Given the description of an element on the screen output the (x, y) to click on. 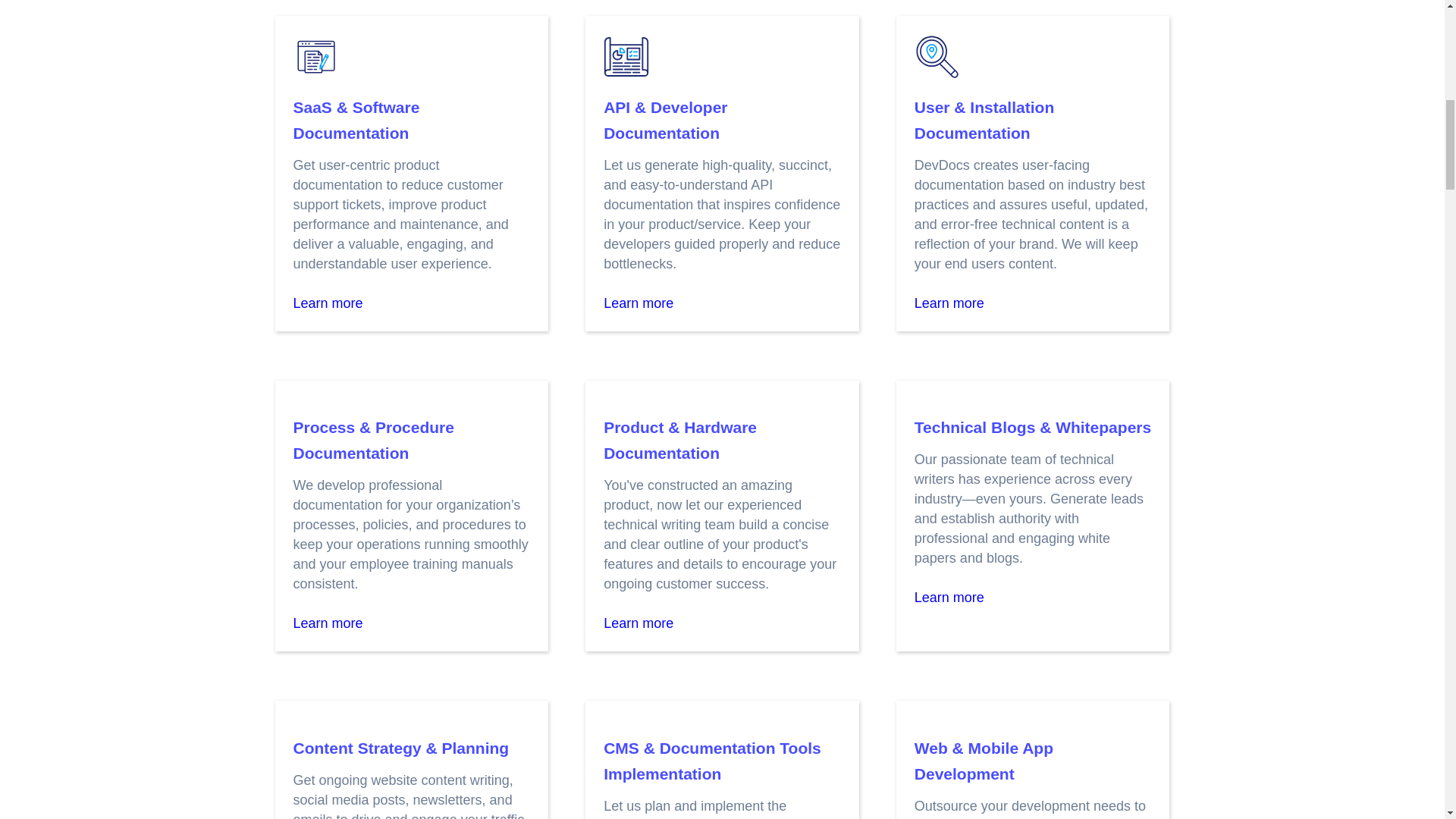
Learn more (327, 622)
Learn more (949, 303)
Learn more (327, 303)
Learn more (638, 303)
